Given the description of an element on the screen output the (x, y) to click on. 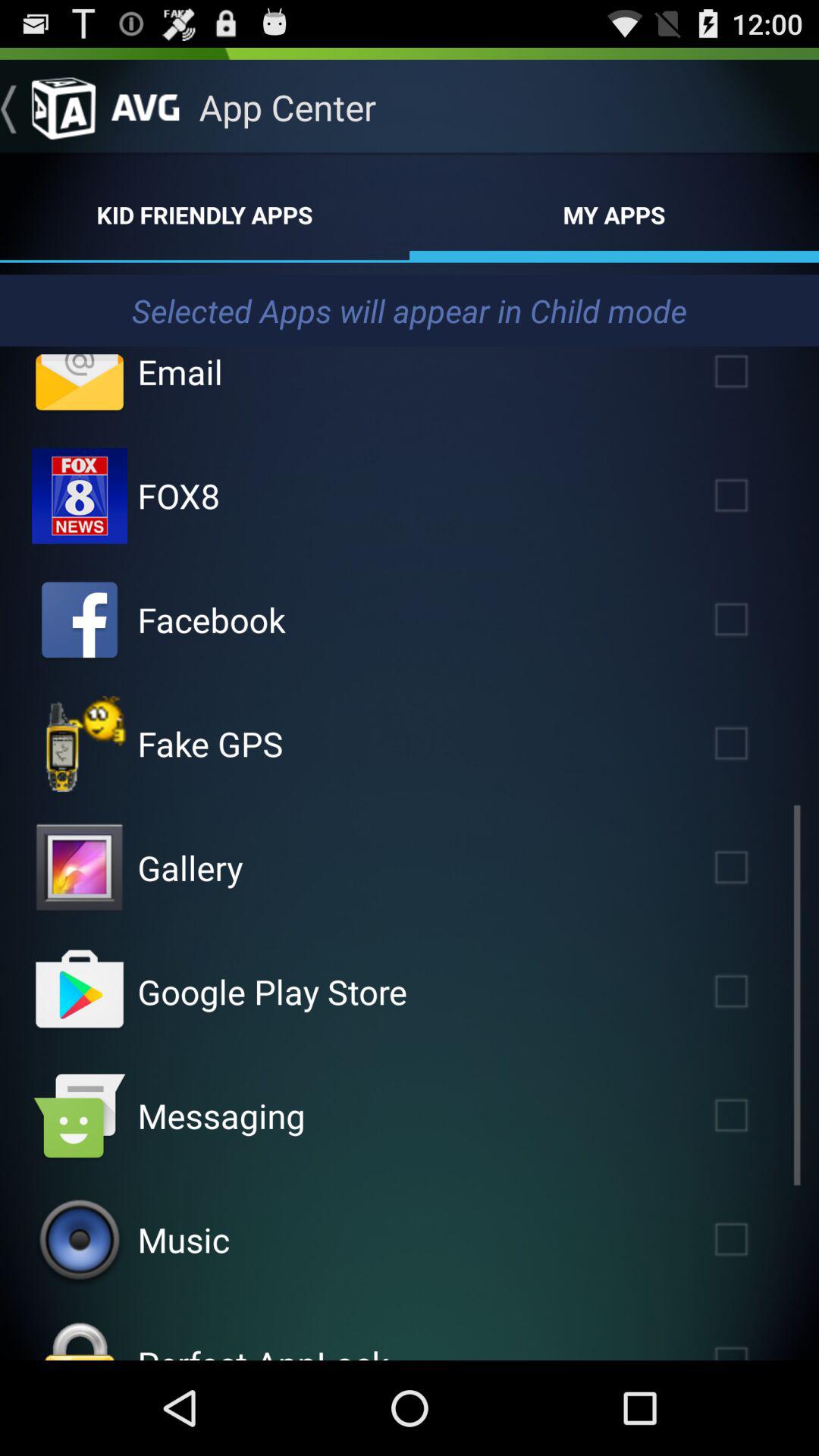
open app (79, 743)
